Given the description of an element on the screen output the (x, y) to click on. 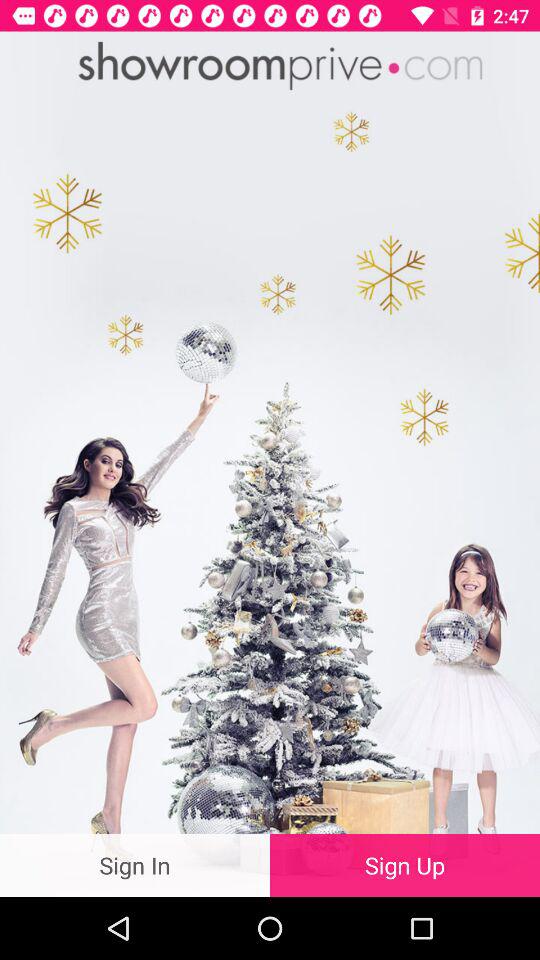
press the item at the bottom right corner (405, 864)
